Given the description of an element on the screen output the (x, y) to click on. 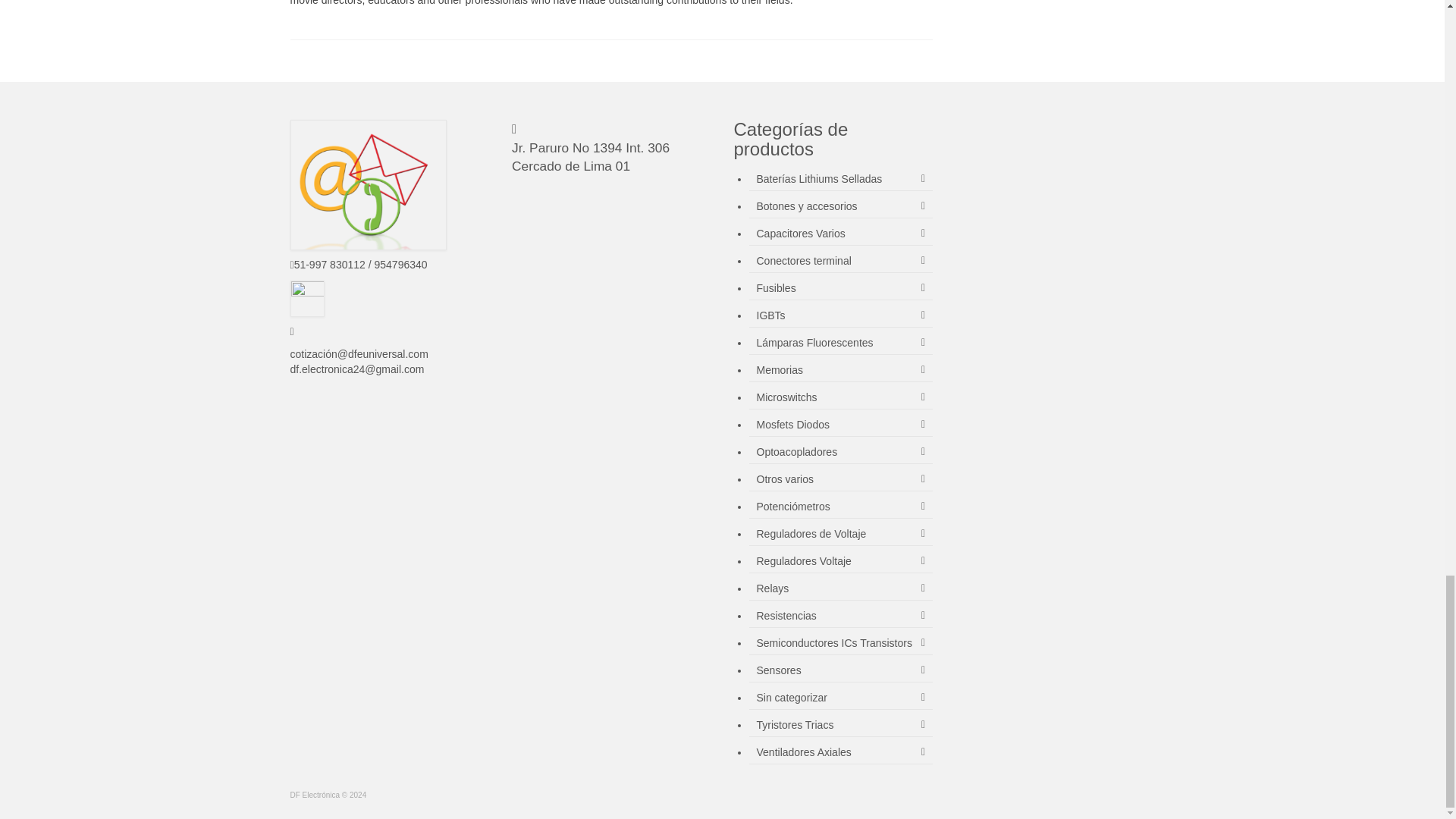
Memorias (841, 370)
Optoacopladores (841, 452)
Conectores terminal (841, 260)
Mosfets Diodos (841, 424)
Microswitchs (841, 397)
Botones y accesorios (841, 206)
Fusibles (841, 288)
IGBTs (841, 315)
Capacitores Varios (841, 233)
Otros varios (841, 479)
